Given the description of an element on the screen output the (x, y) to click on. 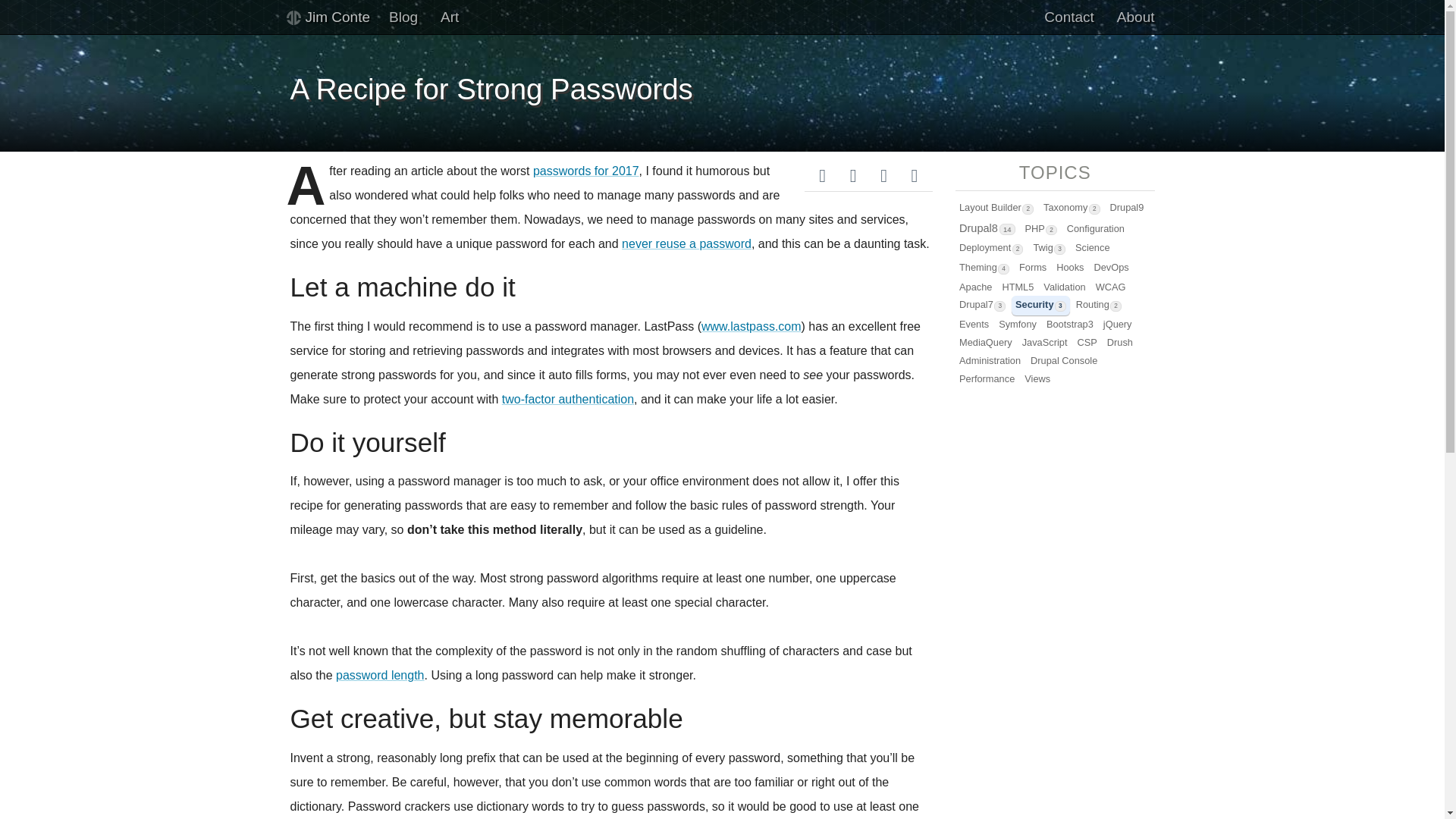
Drupal8 14 (987, 228)
Drupal9 (1127, 208)
Layout Builder 2 (995, 208)
Blog (403, 17)
password length (380, 675)
www.lastpass.com (751, 326)
Deployment 2 (990, 248)
Contact (1068, 17)
two-factor authentication (567, 399)
passwords for 2017 (585, 170)
About (1135, 17)
Configuration (1095, 229)
never reuse a password (686, 243)
Twig 3 (1048, 248)
share on reddit (914, 173)
